Given the description of an element on the screen output the (x, y) to click on. 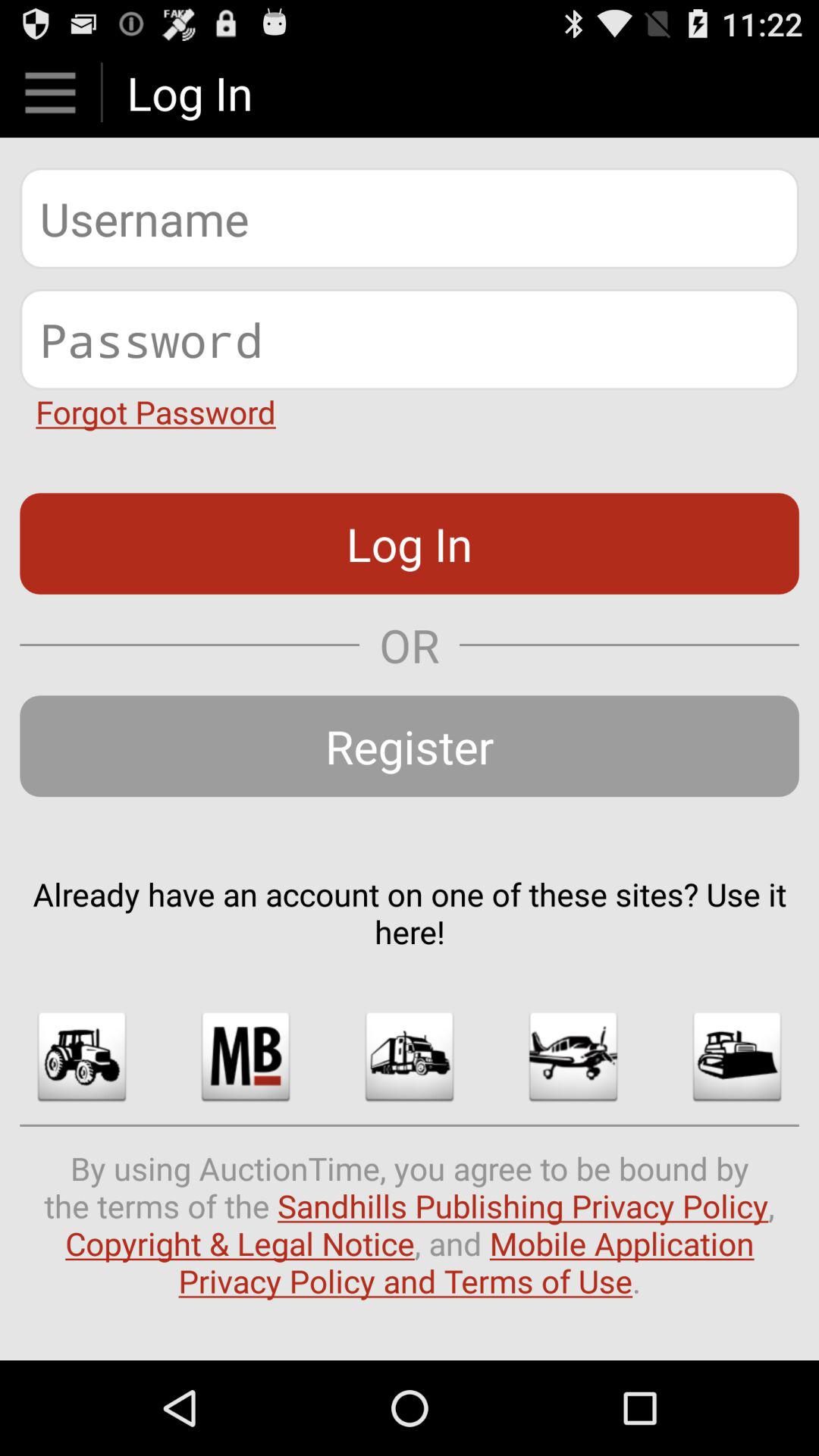
shows menu option (50, 92)
